Given the description of an element on the screen output the (x, y) to click on. 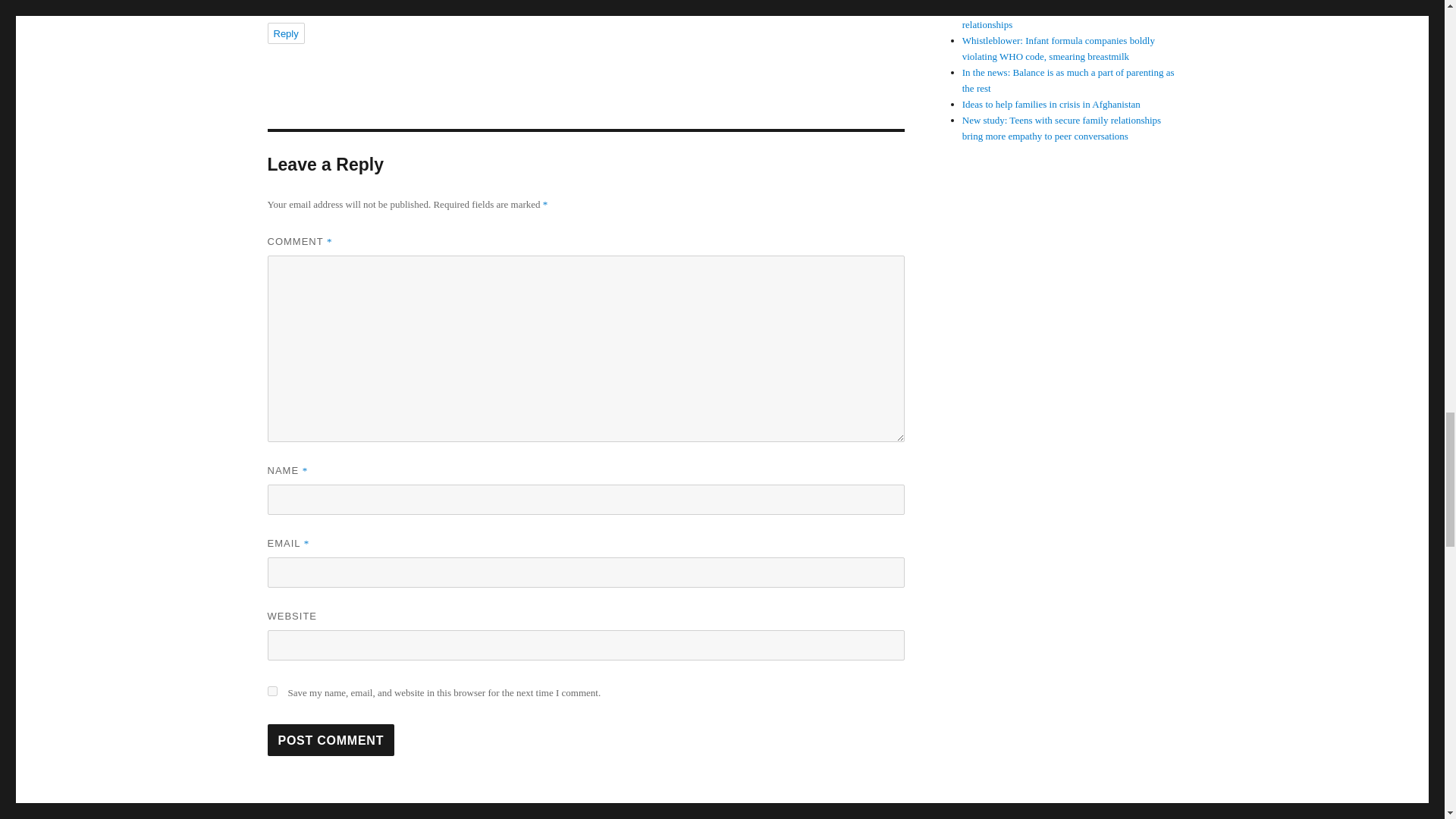
Reply (285, 33)
Post Comment (330, 739)
yes (271, 691)
Post Comment (330, 739)
